Given the description of an element on the screen output the (x, y) to click on. 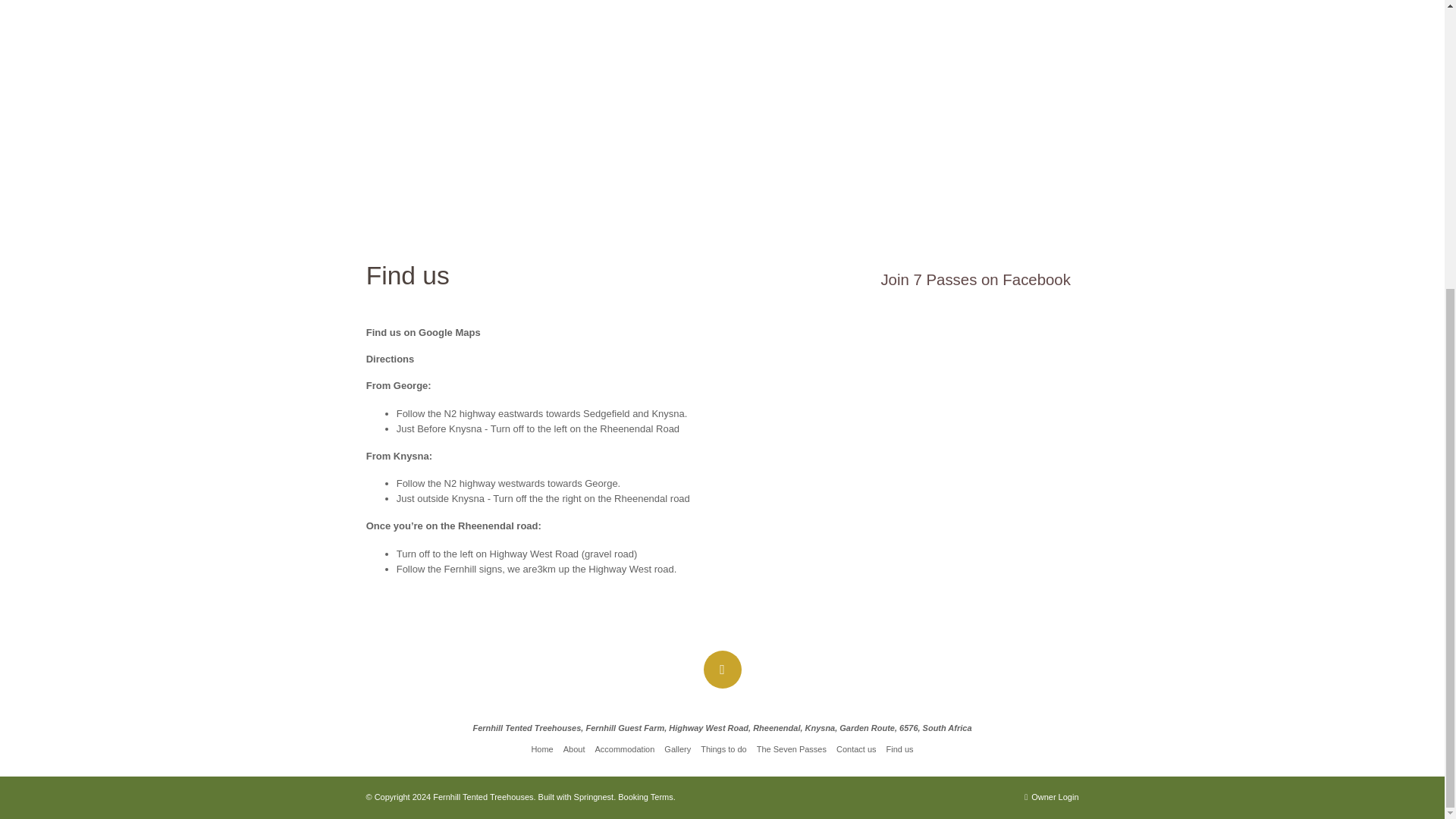
Accommodation (625, 748)
Fernhill Tented Treehouses near Knysna (542, 748)
About Fernhill Guest Farm and Tented Treehouses (574, 748)
